Given the description of an element on the screen output the (x, y) to click on. 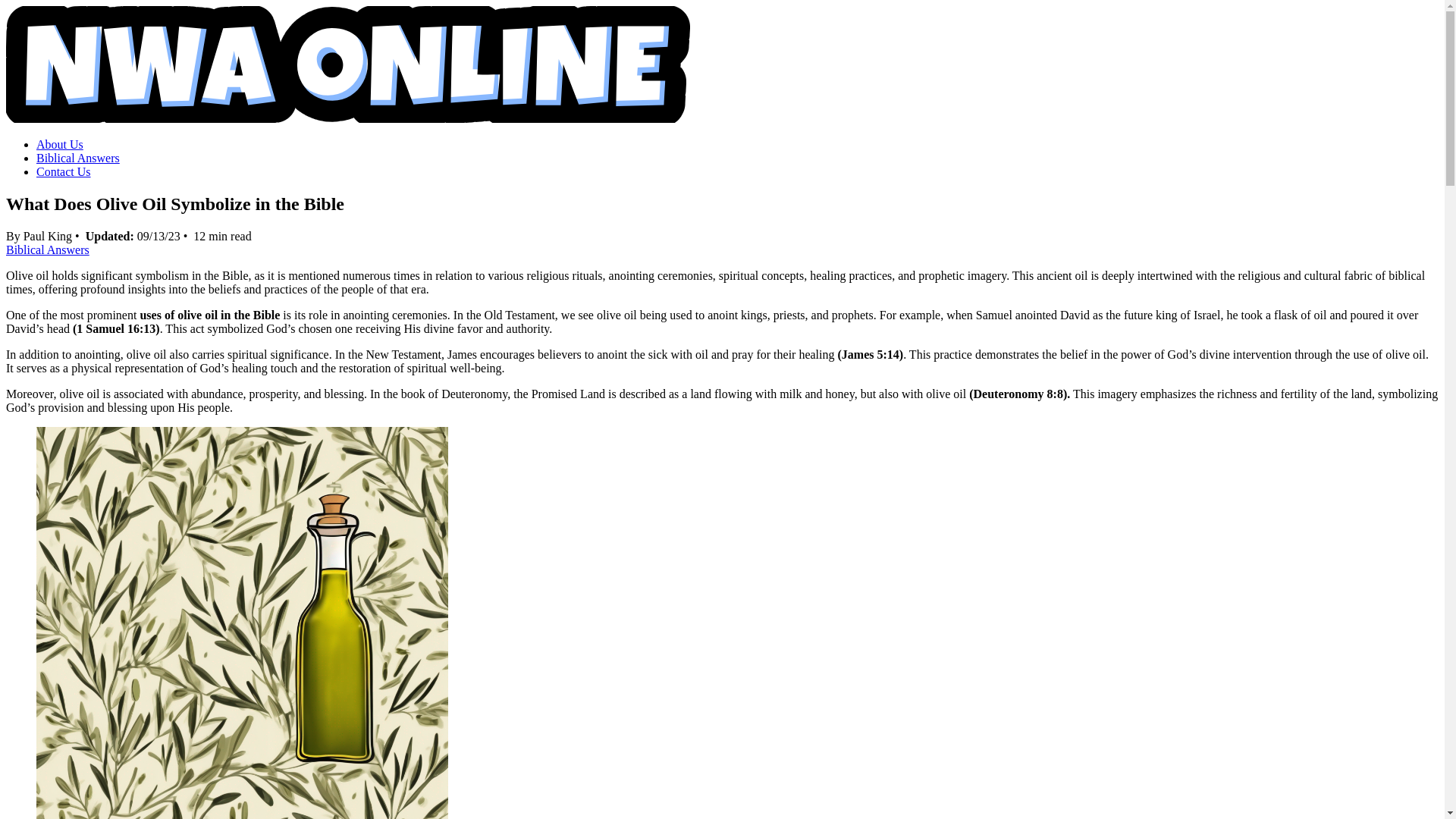
Biblical Answers (77, 157)
Biblical Answers (46, 249)
Contact Us (63, 171)
About Us (59, 144)
